Given the description of an element on the screen output the (x, y) to click on. 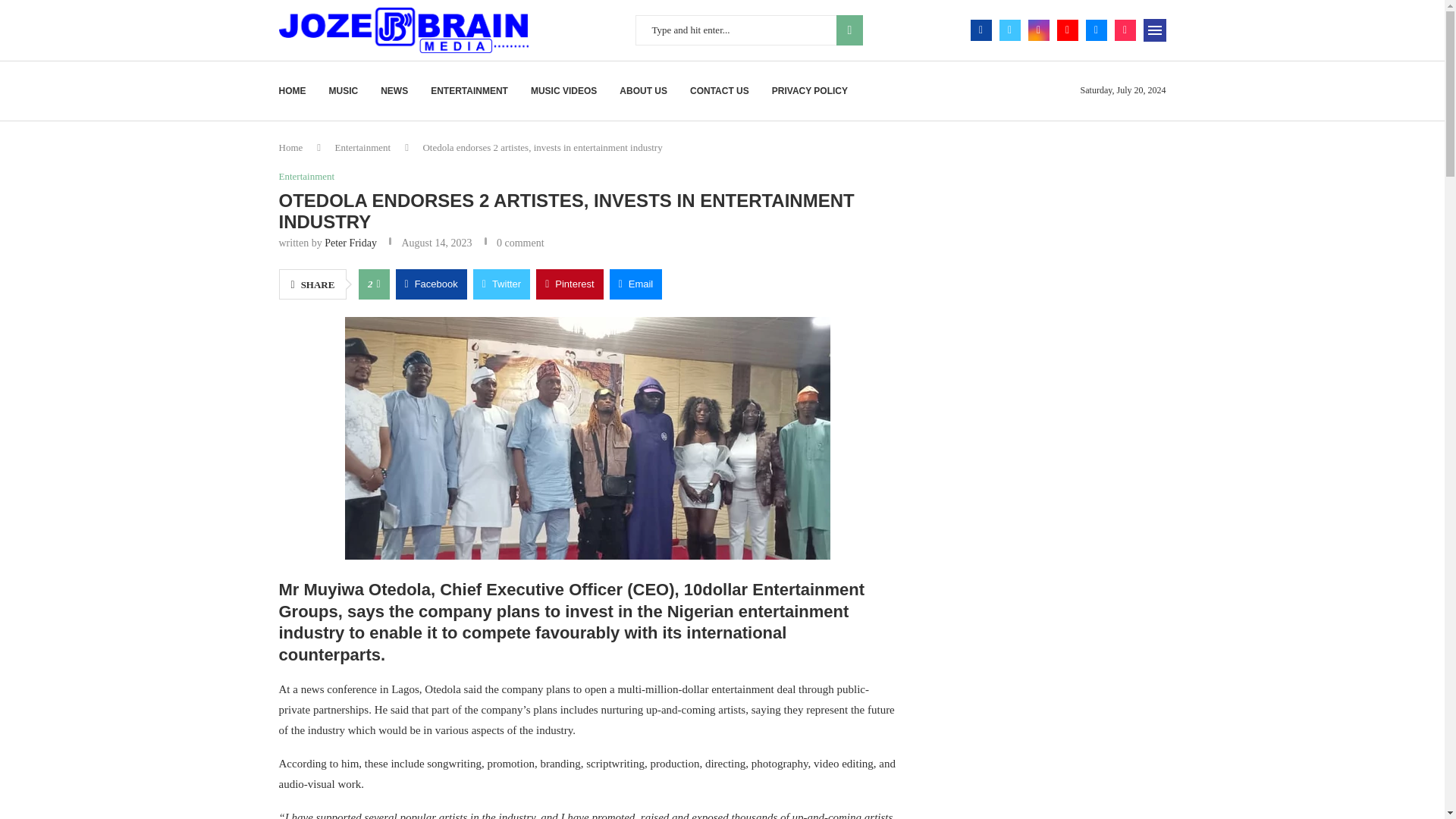
PRIVACY POLICY (809, 90)
CONTACT US (719, 90)
SEARCH (849, 30)
MUSIC VIDEOS (563, 90)
ENTERTAINMENT (469, 90)
ABOUT US (643, 90)
C75B4CE7-E35B-46CF-8728-62F179CB8780 (587, 437)
